Given the description of an element on the screen output the (x, y) to click on. 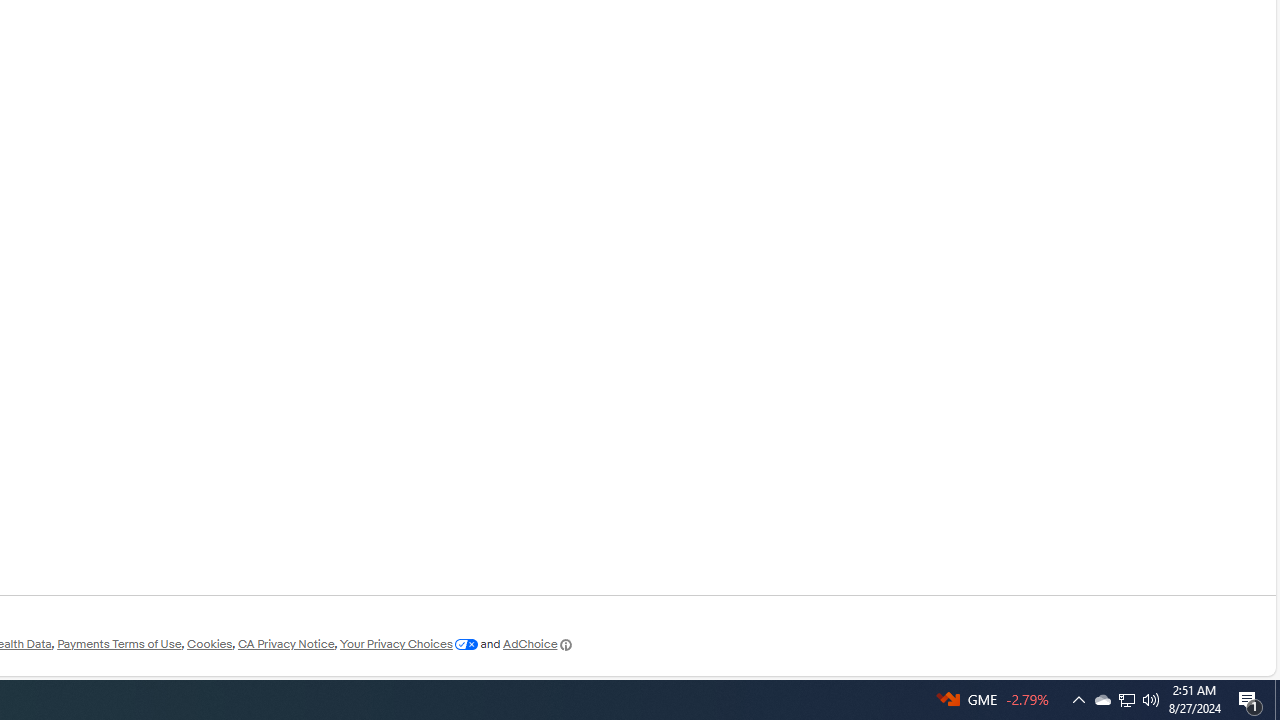
Your Privacy Choices (408, 644)
Payments Terms of Use (119, 644)
AdChoice (538, 644)
Cookies (209, 644)
CA Privacy Notice (285, 644)
